Given the description of an element on the screen output the (x, y) to click on. 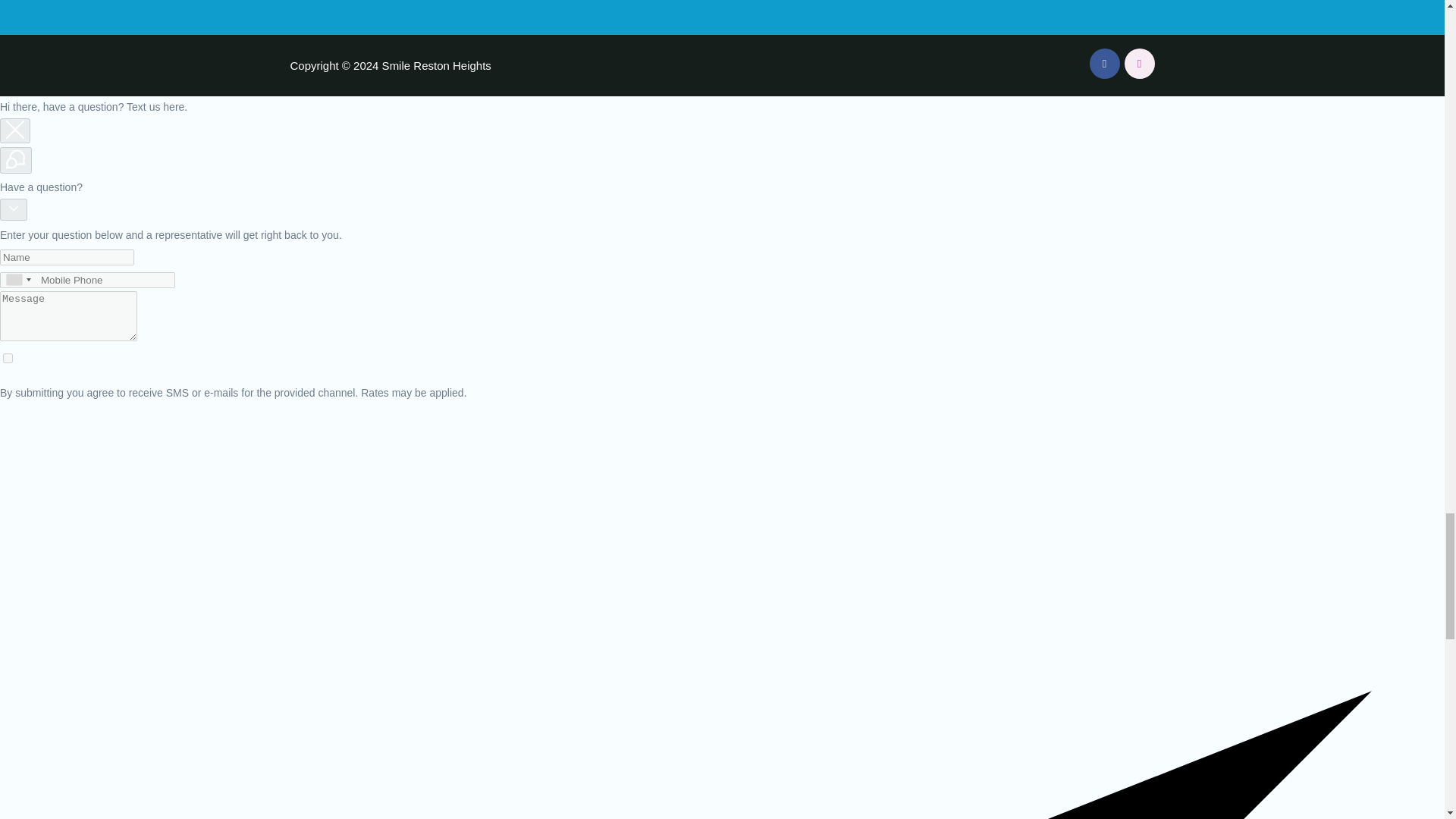
Facebook (1104, 63)
Instagram (1139, 63)
